Given the description of an element on the screen output the (x, y) to click on. 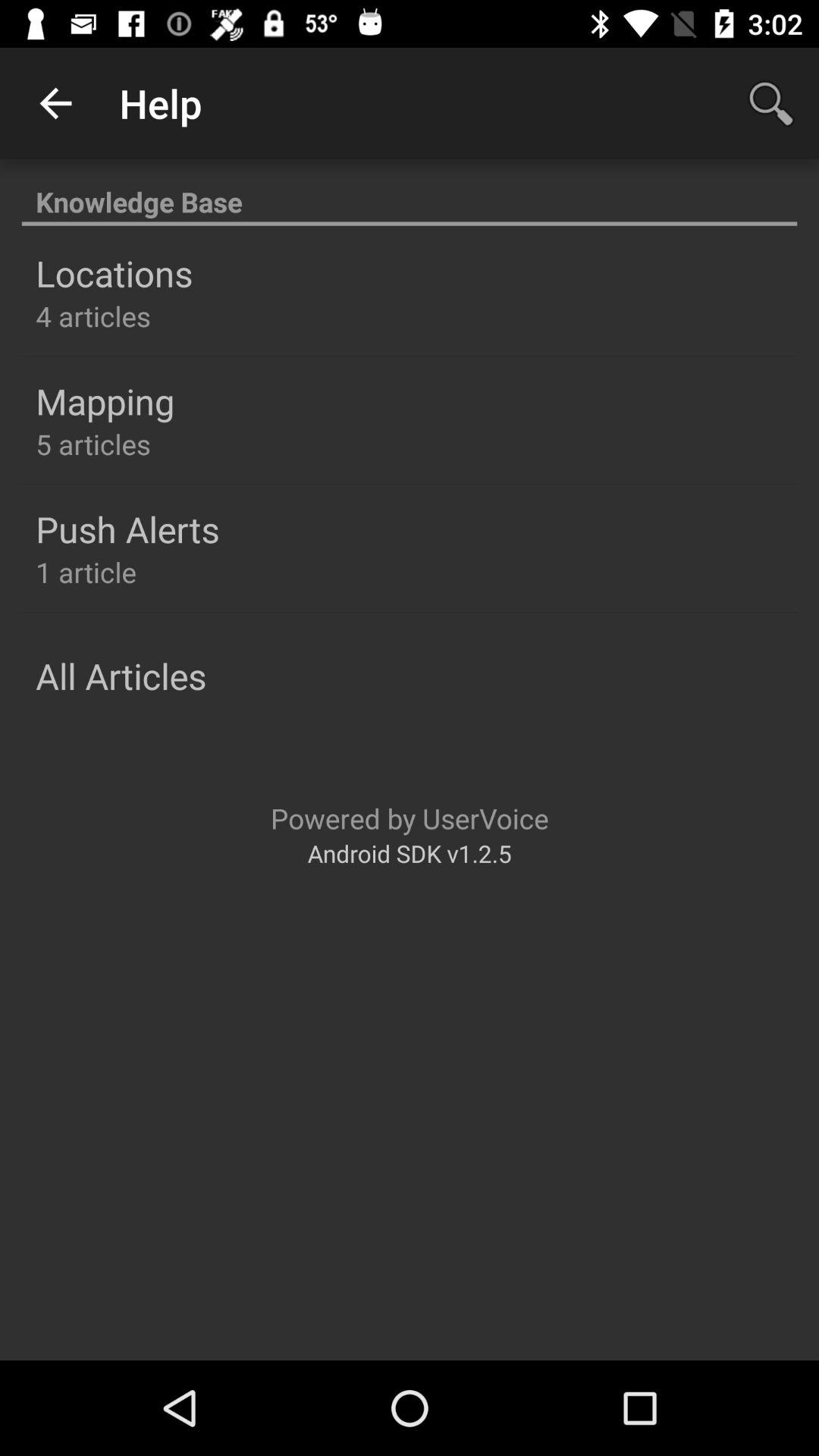
swipe until powered by uservoice icon (409, 818)
